Given the description of an element on the screen output the (x, y) to click on. 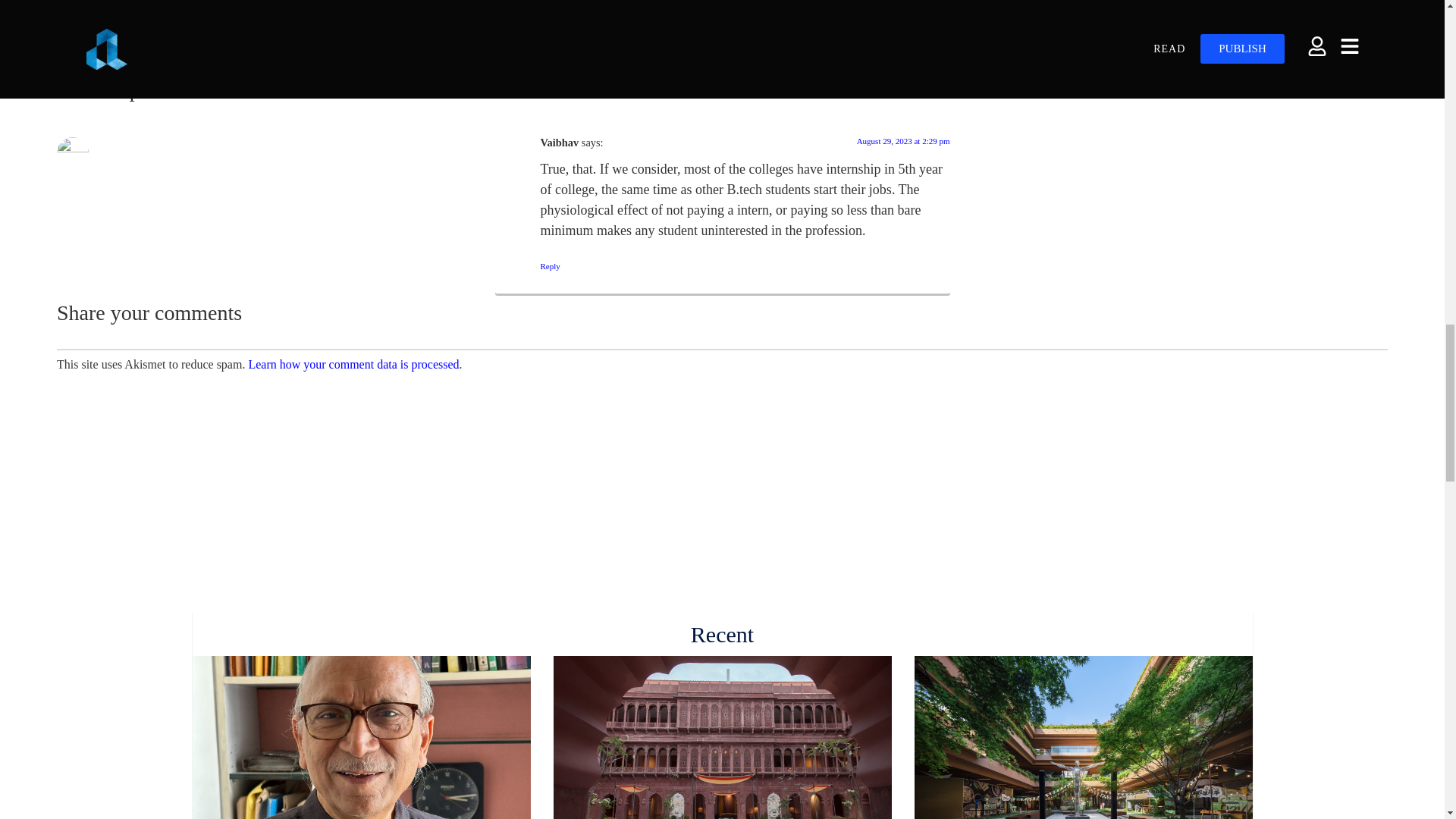
Architectural Internship (695, 37)
Learn how your comment data is processed (352, 364)
Thoughts (911, 37)
Architects in India (580, 37)
Architecture education (821, 37)
August 29, 2023 at 2:29 pm (903, 140)
Reply (549, 266)
Profile and Contributions (724, 2)
